Given the description of an element on the screen output the (x, y) to click on. 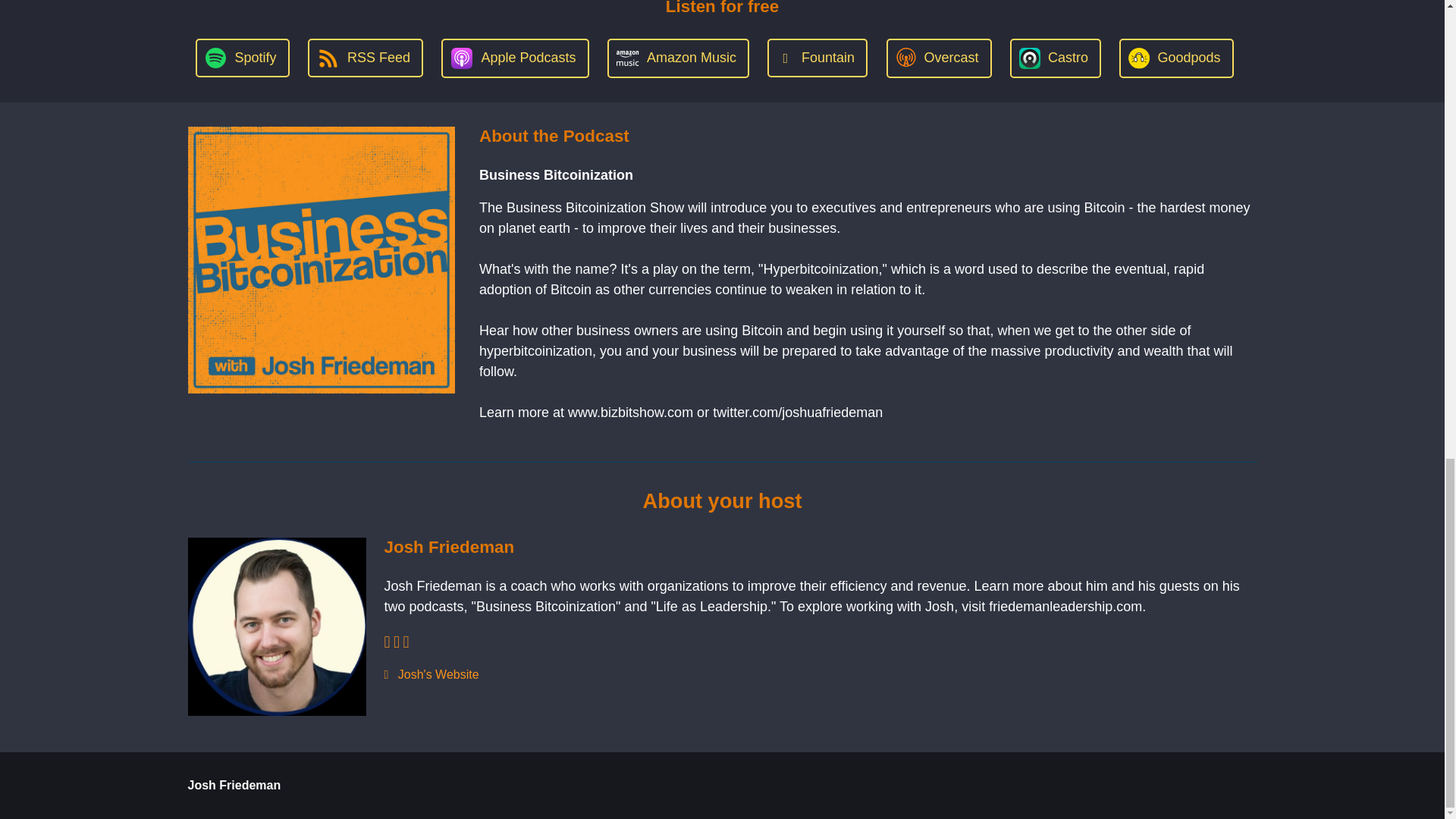
Apple Podcasts (514, 57)
Goodpods (1176, 57)
RSS Feed (365, 57)
Josh's Website (820, 674)
Castro (1055, 57)
Fountain (817, 57)
Spotify (241, 57)
Overcast (938, 57)
Amazon Music (678, 57)
